Given the description of an element on the screen output the (x, y) to click on. 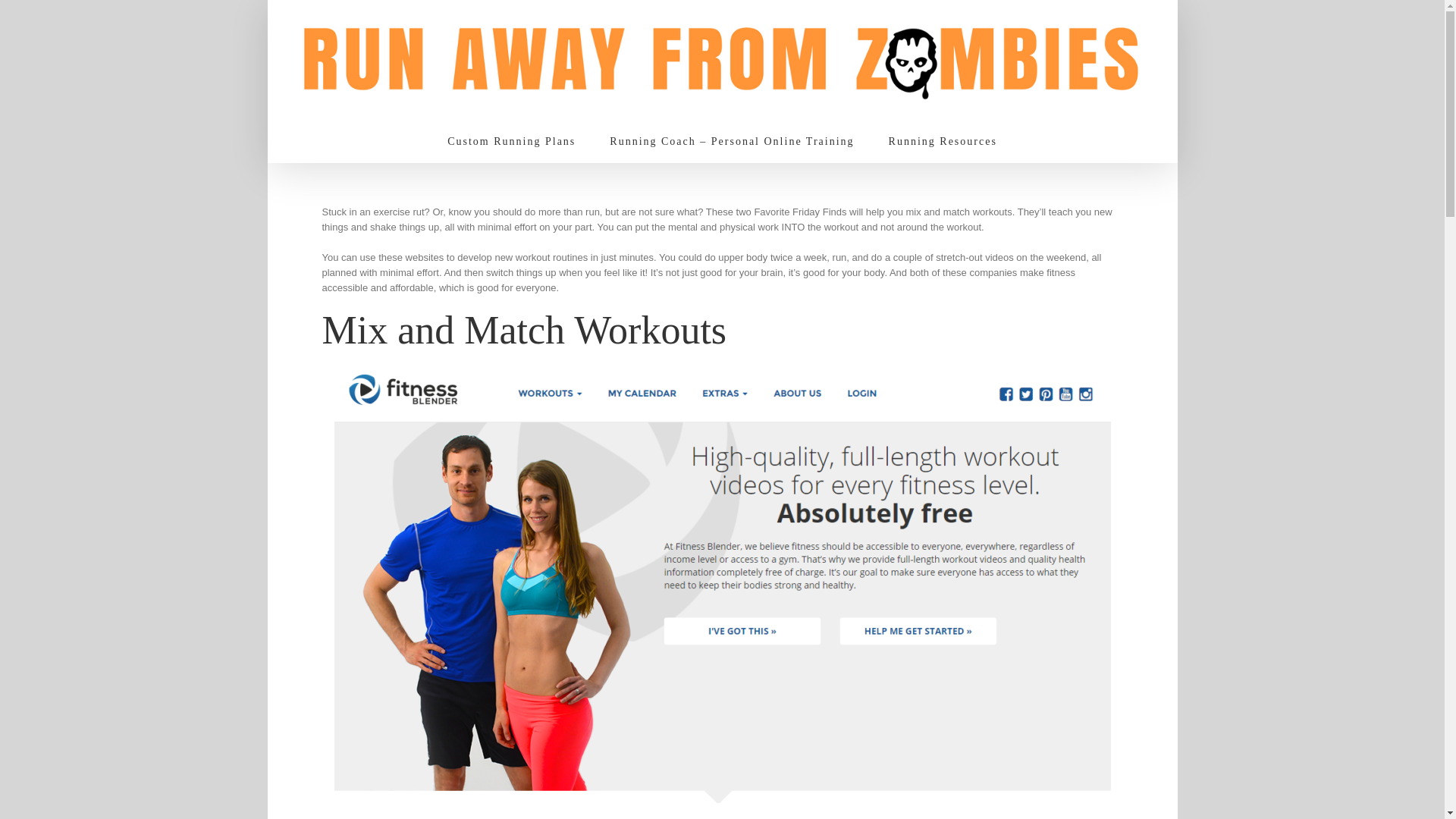
Running Resources (942, 142)
Custom Running Plans (510, 142)
Fitness Blender (444, 817)
